Given the description of an element on the screen output the (x, y) to click on. 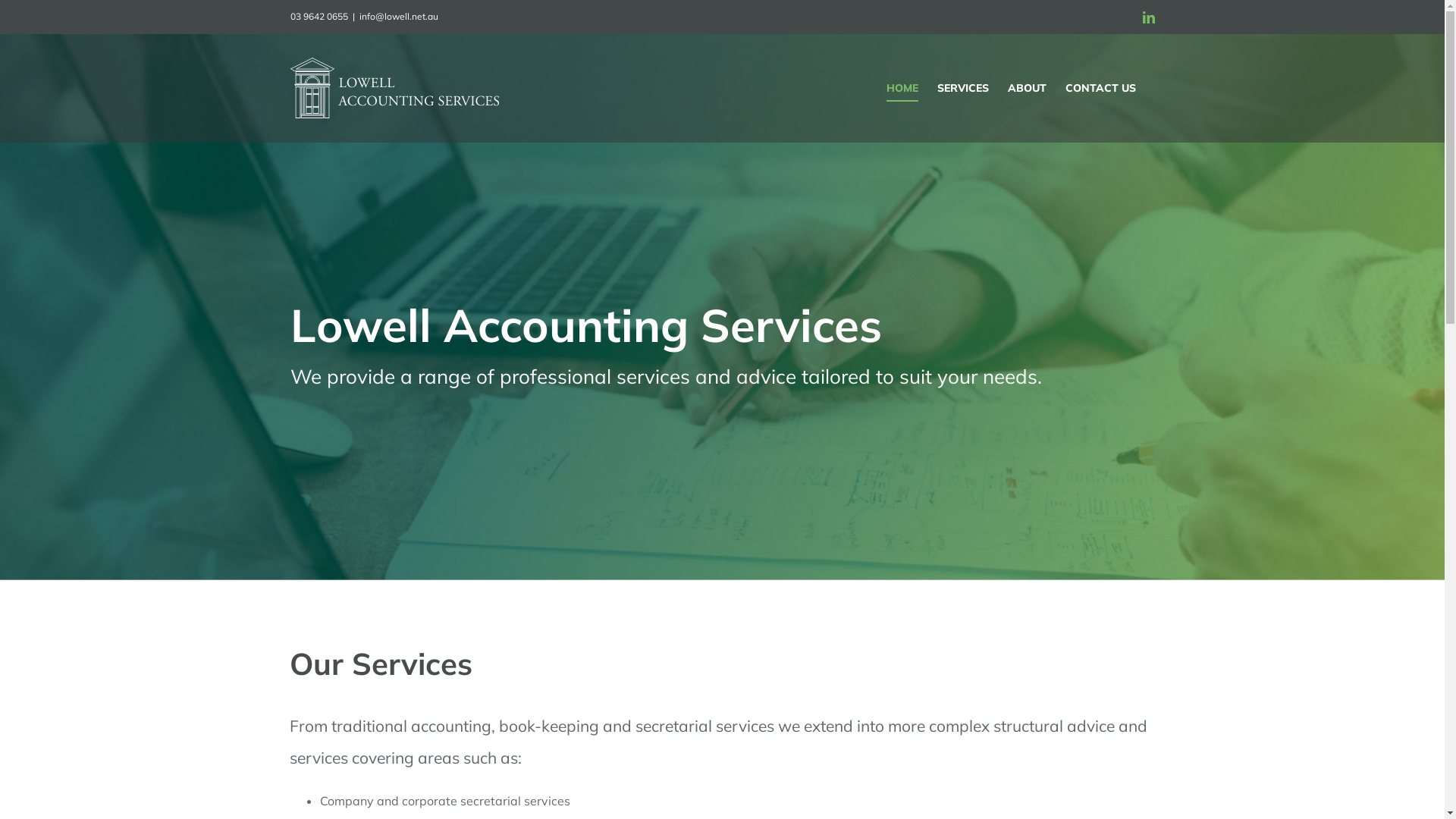
LinkedIn Element type: text (1148, 17)
SERVICES Element type: text (962, 87)
info@lowell.net.au Element type: text (398, 15)
ABOUT Element type: text (1026, 87)
CONTACT US Element type: text (1099, 87)
HOME Element type: text (901, 87)
